Given the description of an element on the screen output the (x, y) to click on. 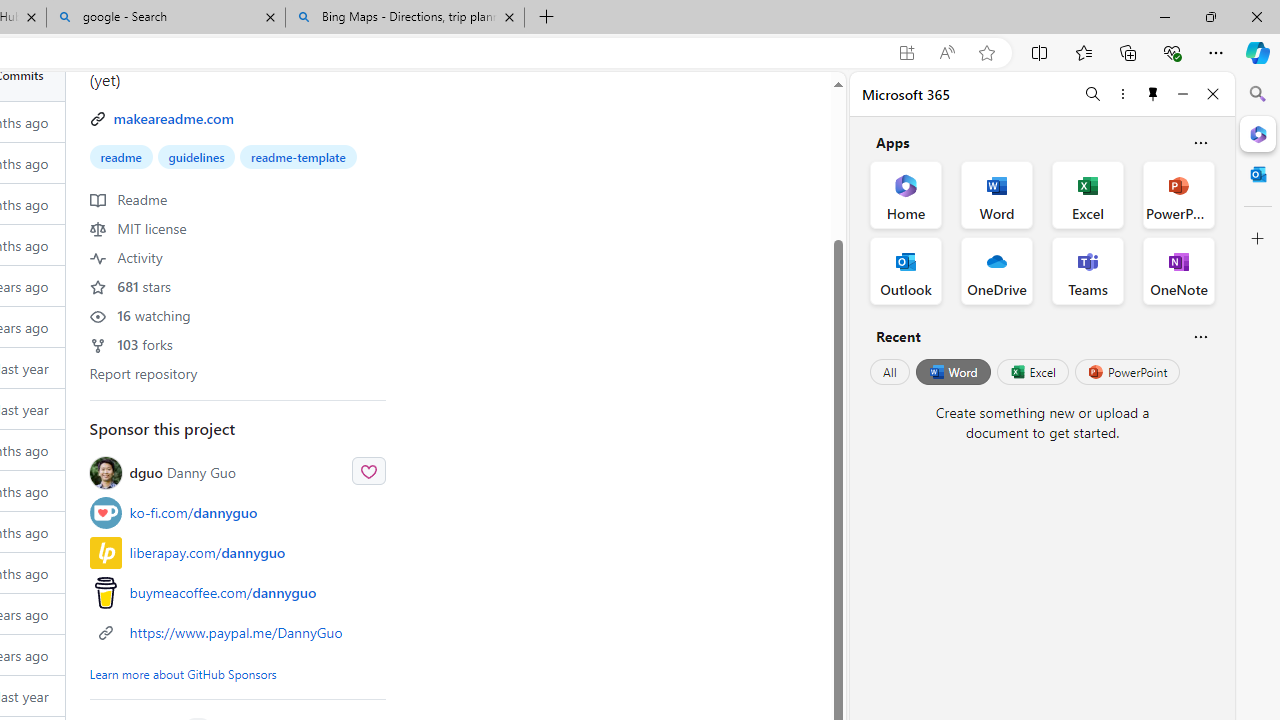
Browser essentials (1171, 52)
Split screen (1039, 52)
buy_me_a_coffee (105, 592)
Is this helpful? (1200, 336)
Teams Office App (1087, 270)
ko-fi.com/dannyguo (193, 512)
App available. Install GitHub (906, 53)
liberapay.com/dannyguo (237, 551)
OneDrive Office App (996, 270)
Outlook (1258, 174)
ko-fi.com/dannyguo (237, 512)
 MIT license (137, 228)
Outlook Office App (906, 270)
New Tab (546, 17)
